Given the description of an element on the screen output the (x, y) to click on. 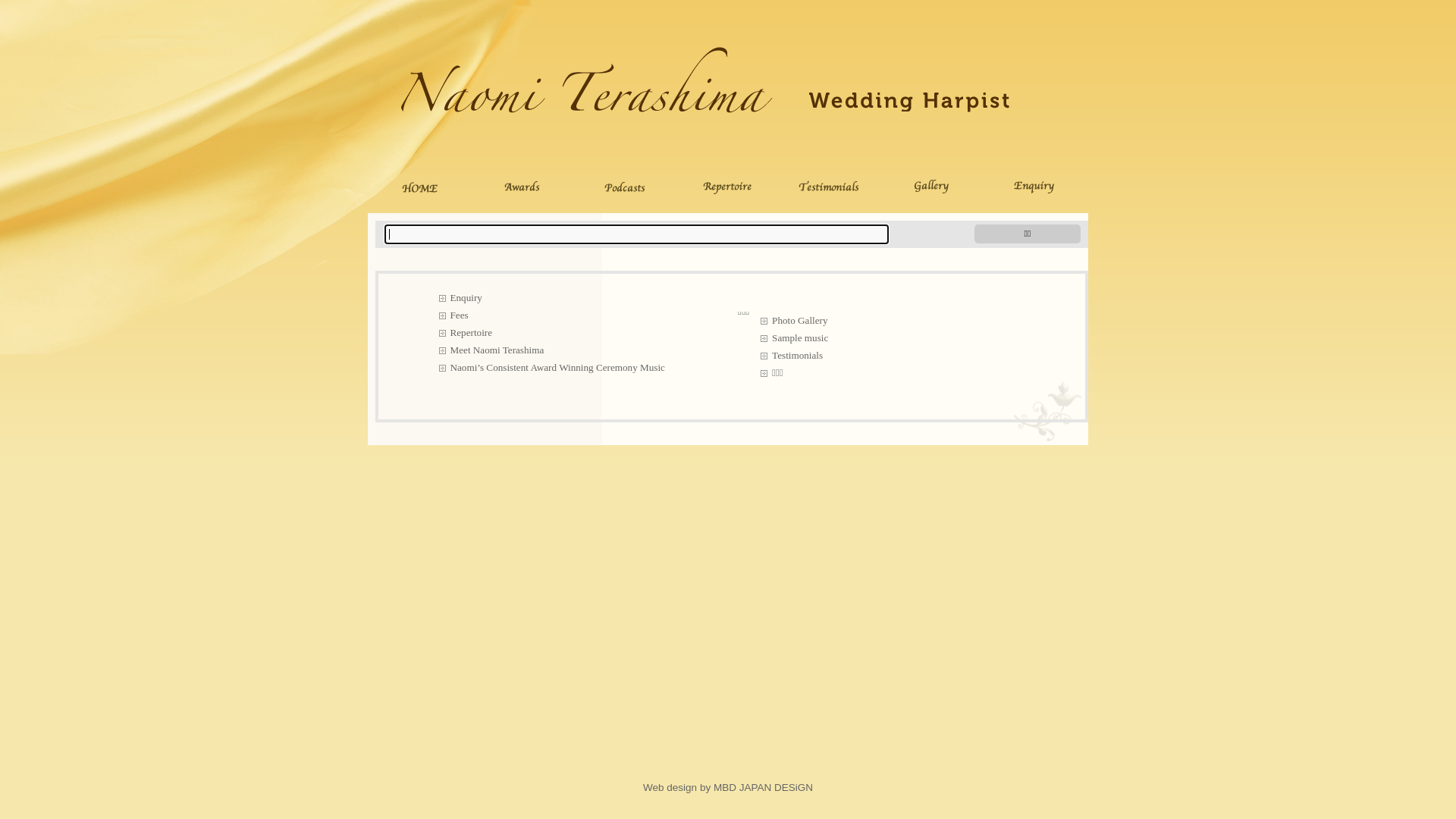
Repertoire Element type: text (581, 332)
home Element type: hover (418, 185)
Testimonials Element type: text (899, 355)
Meet Naomi Terashima Element type: text (581, 349)
Enquiry Element type: text (581, 297)
Fees Element type: text (581, 314)
Sample music Element type: text (899, 337)
MBD JAPAN DESiGN Element type: text (762, 787)
Photo Gallery Element type: text (899, 320)
Naomi Terashima Harpist Element type: hover (704, 112)
